Given the description of an element on the screen output the (x, y) to click on. 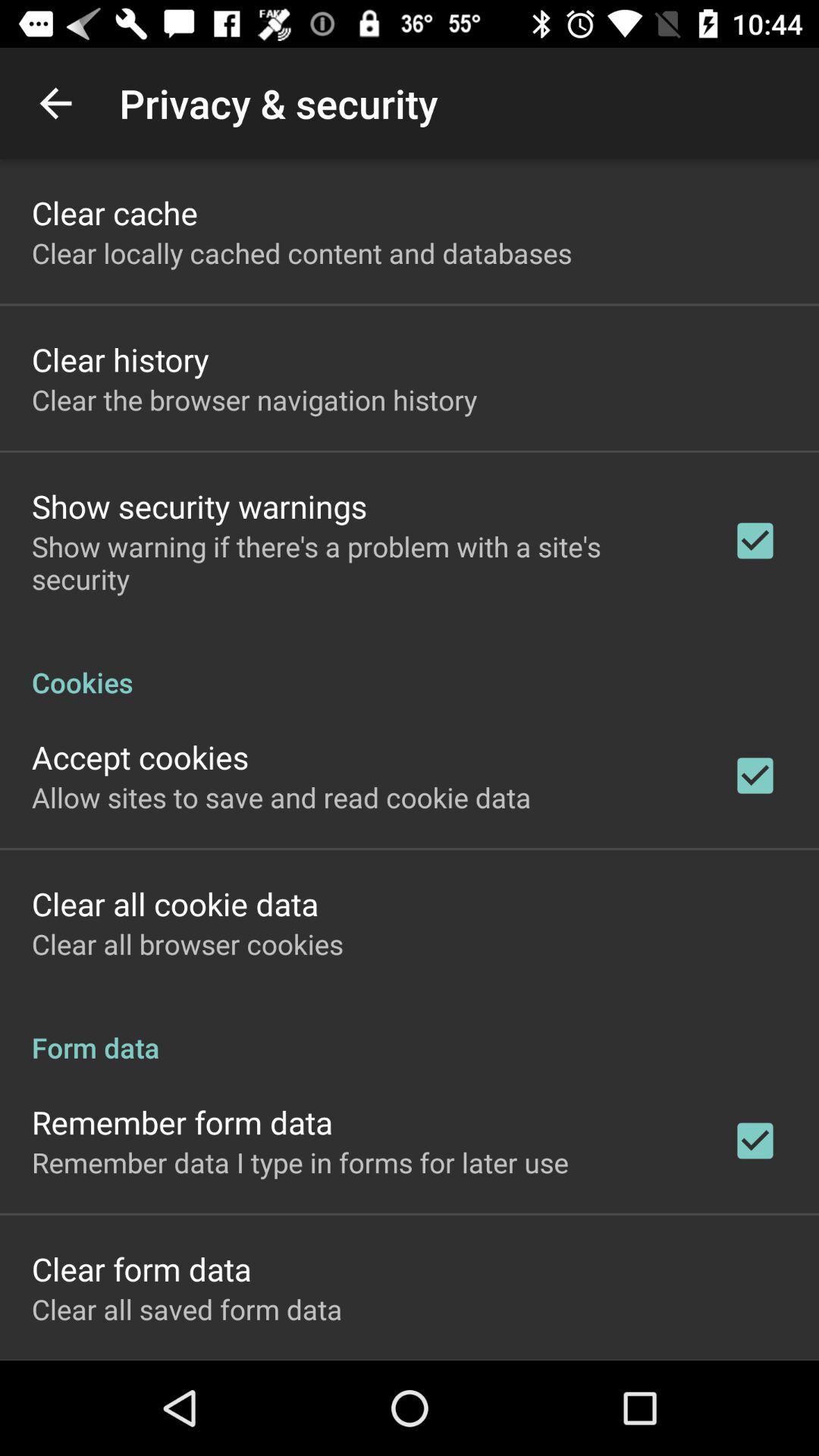
turn on app to the left of the privacy & security app (55, 103)
